Given the description of an element on the screen output the (x, y) to click on. 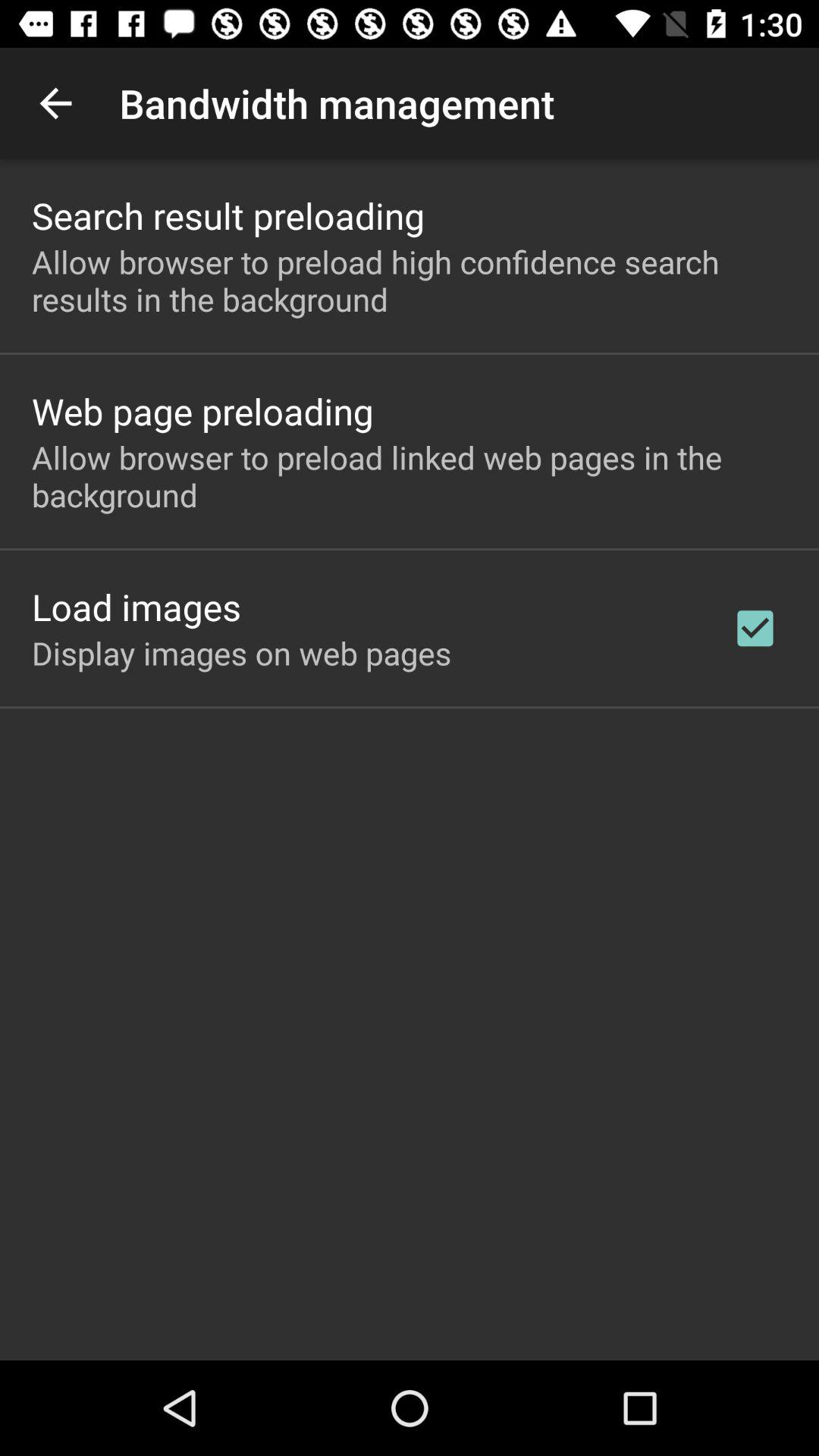
jump to search result preloading app (227, 215)
